Given the description of an element on the screen output the (x, y) to click on. 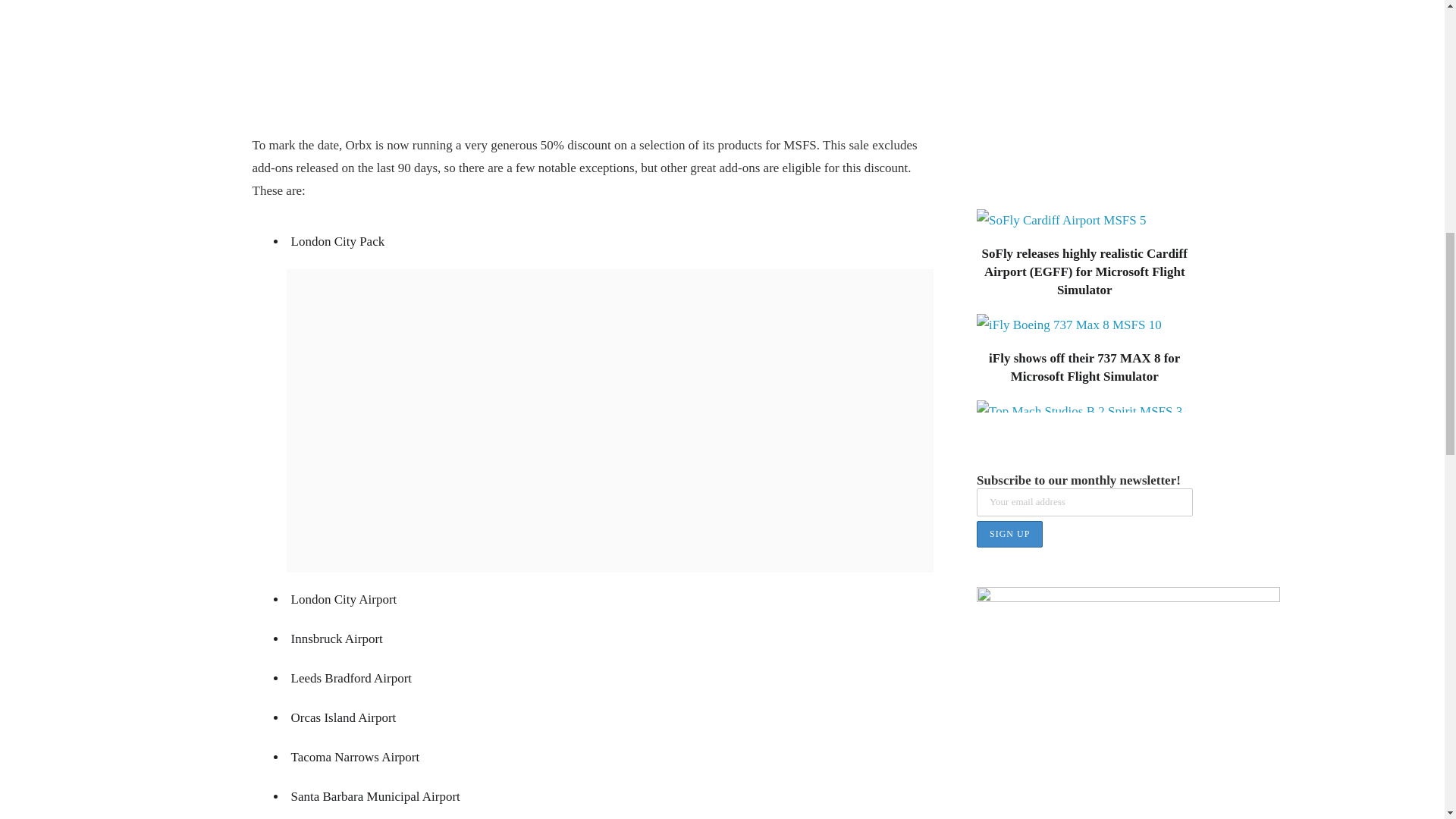
Sign up (1009, 533)
